Given the description of an element on the screen output the (x, y) to click on. 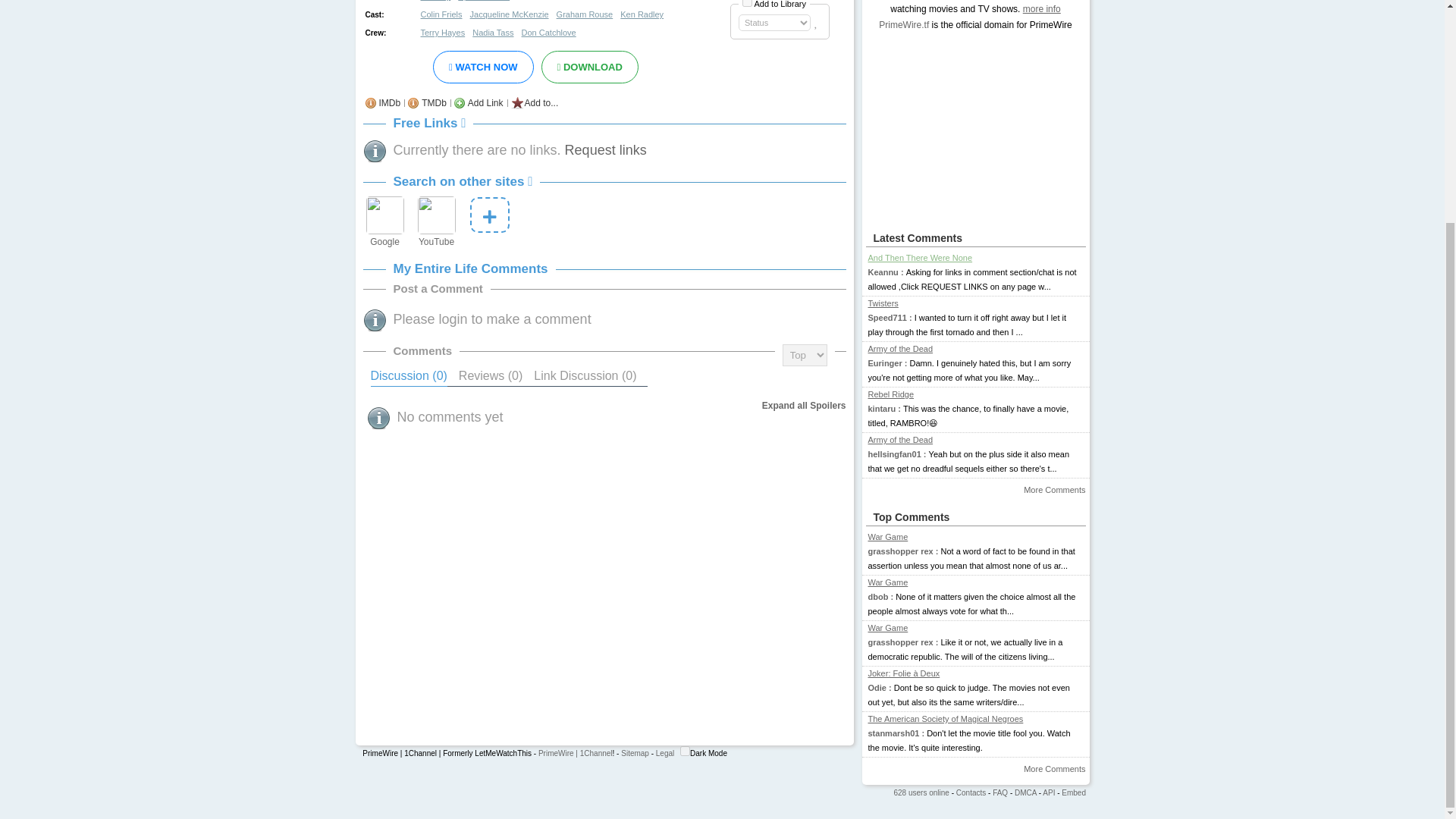
Don Catchlove (550, 32)
Specific Films (486, 1)
Nadia Tass (494, 32)
on (747, 3)
Jacqueline McKenzie (512, 14)
Add to... (541, 102)
3110 unregistered (921, 792)
WATCH NOW (482, 66)
on (684, 750)
Graham Rouse (587, 14)
